Given the description of an element on the screen output the (x, y) to click on. 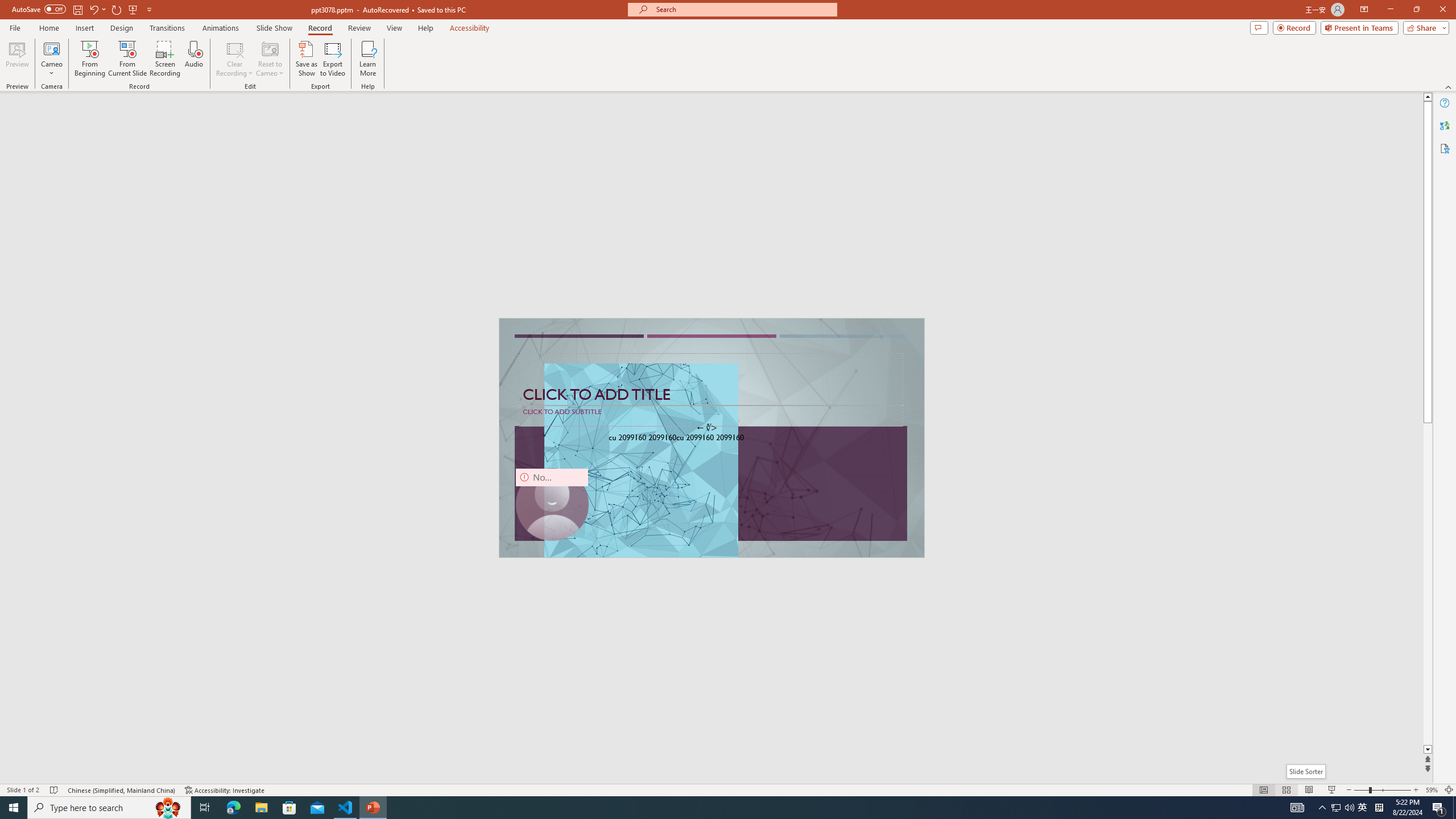
Gmail (362, 78)
Search (Ctrl+Shift+F) (76, 265)
Output (Ctrl+Shift+U) (395, 533)
sample_500k.py (352, 183)
+86 159 0032 4640 (983, 382)
Source Control (Ctrl+Shift+G) (76, 309)
